Given the description of an element on the screen output the (x, y) to click on. 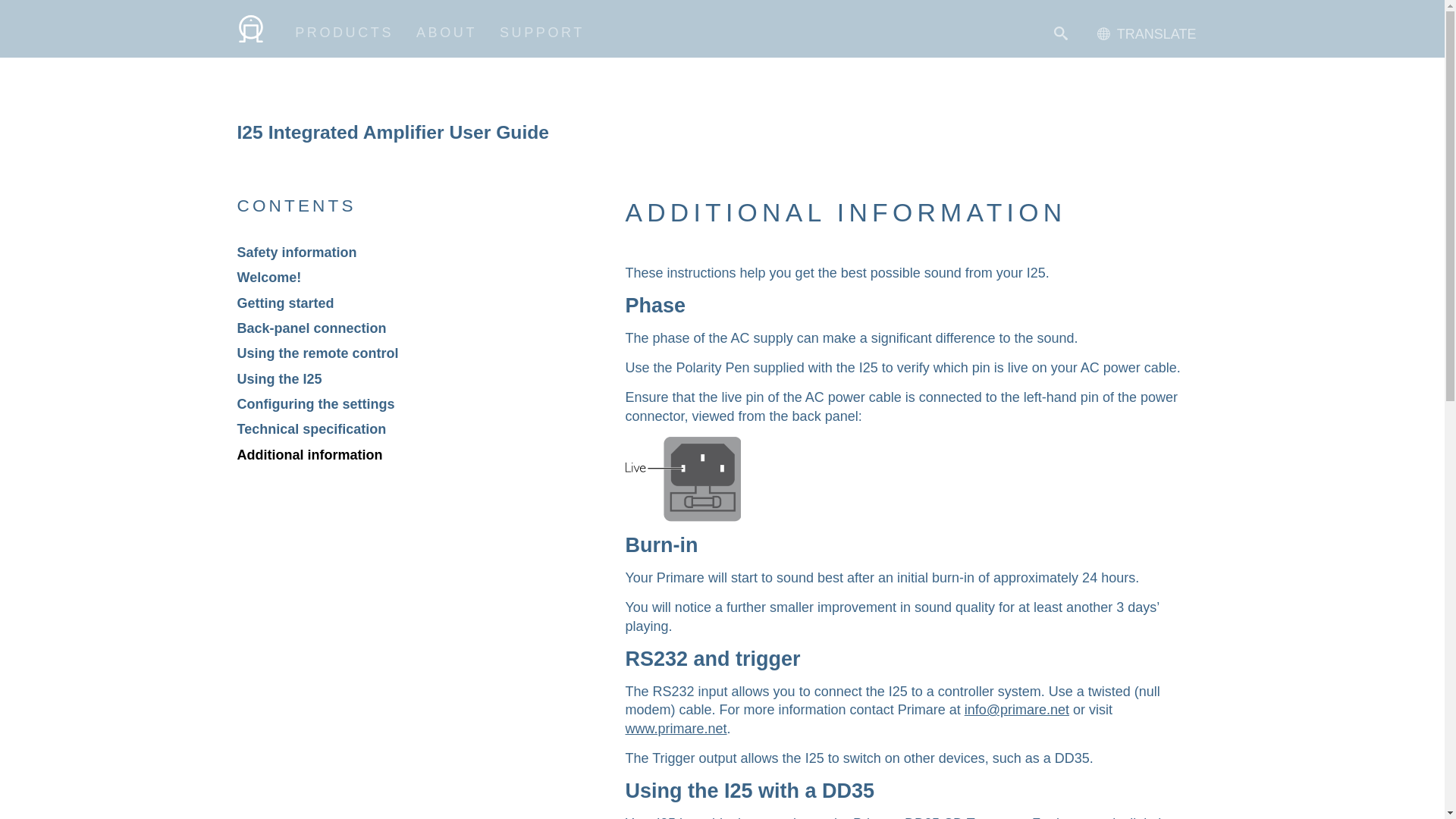
ABOUT (446, 32)
Primare (249, 37)
SUPPORT (542, 32)
PRODUCTS (344, 32)
